Given the description of an element on the screen output the (x, y) to click on. 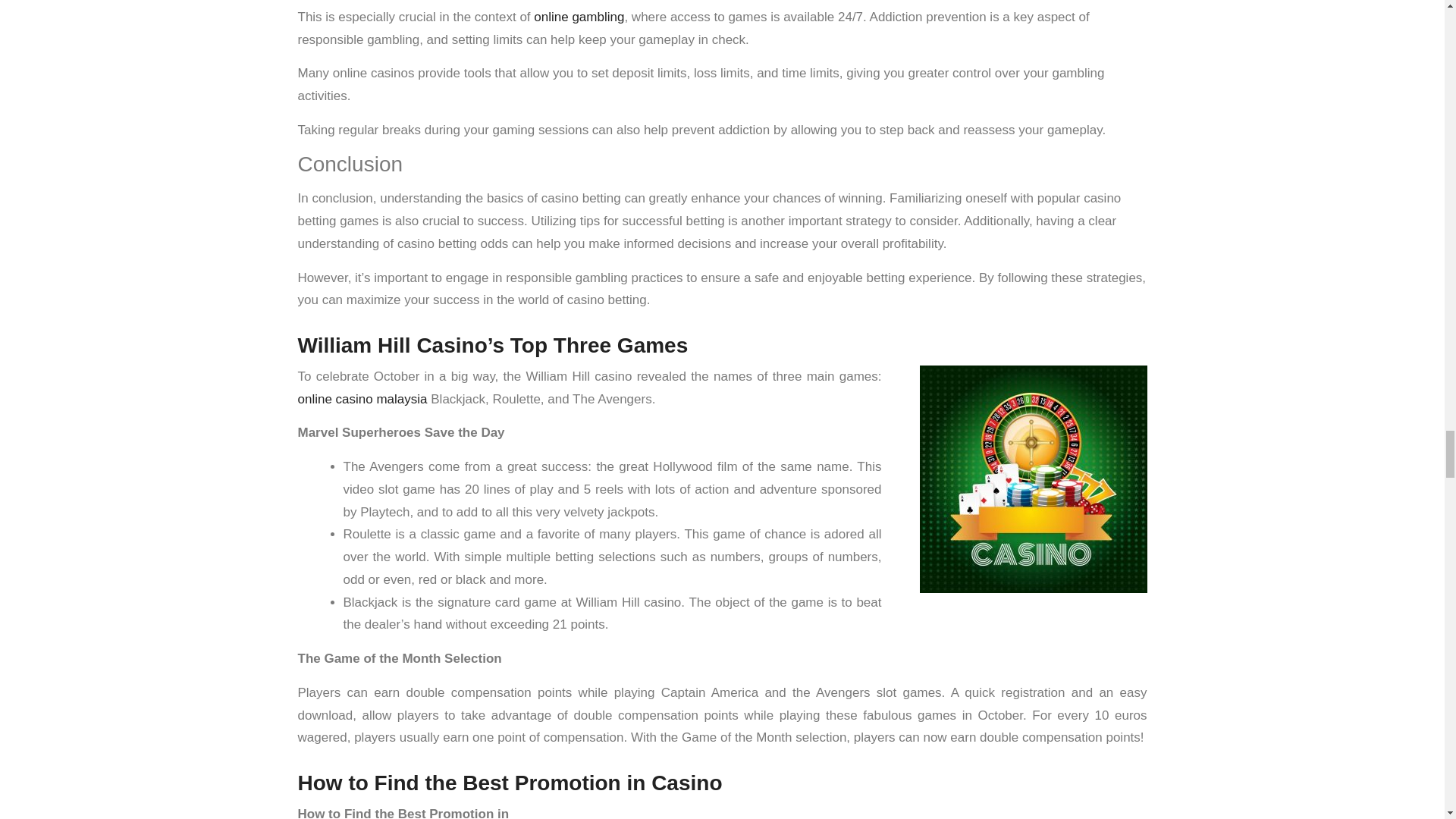
How to Find the Best Promotion in Casino (509, 782)
online gambling (579, 16)
online casino malaysia (361, 399)
